Given the description of an element on the screen output the (x, y) to click on. 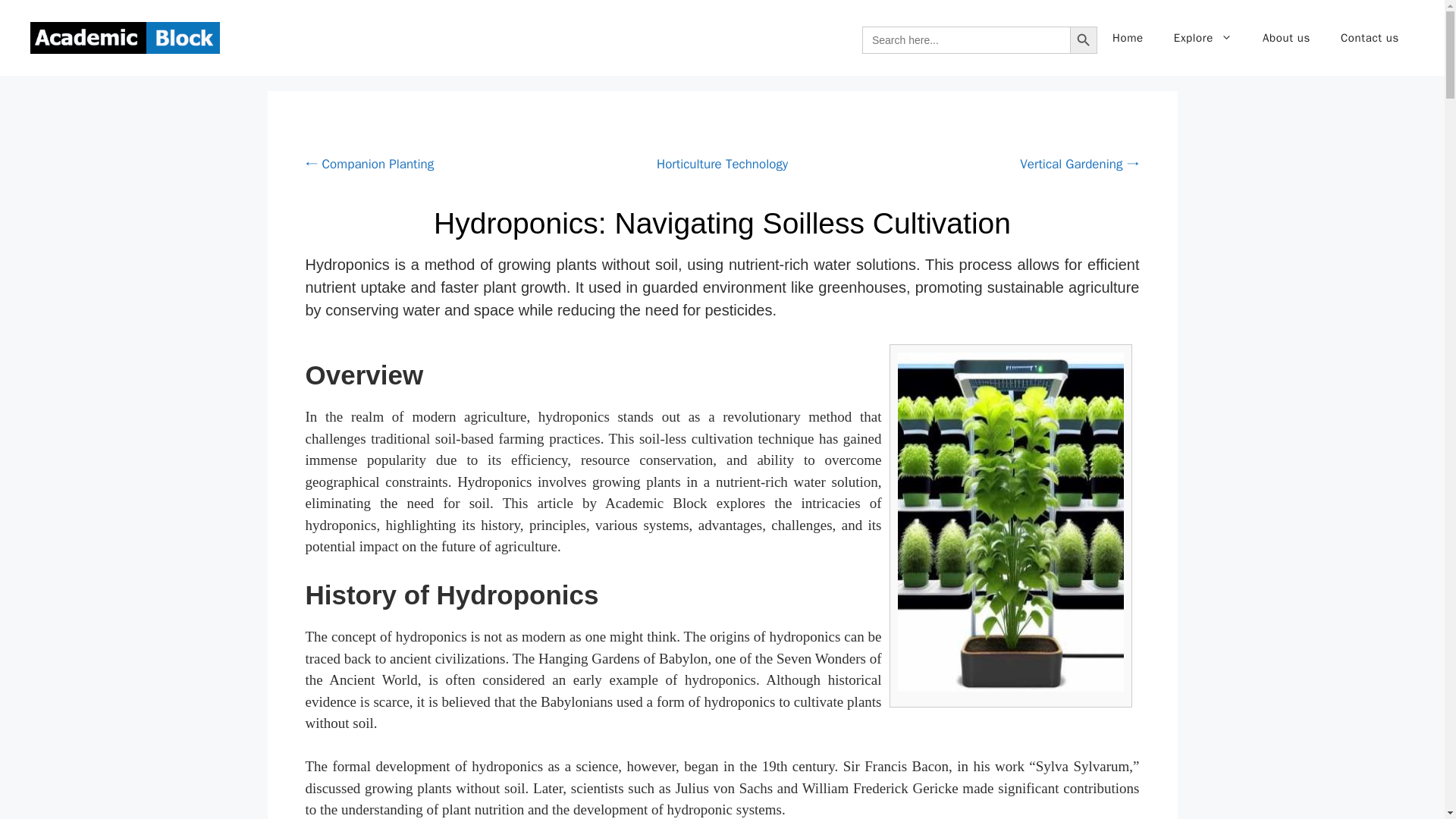
About us (1285, 37)
Search Button (1083, 40)
Horticulture Technology (721, 163)
Contact us (1368, 37)
Home (1127, 37)
Explore (1202, 37)
